Given the description of an element on the screen output the (x, y) to click on. 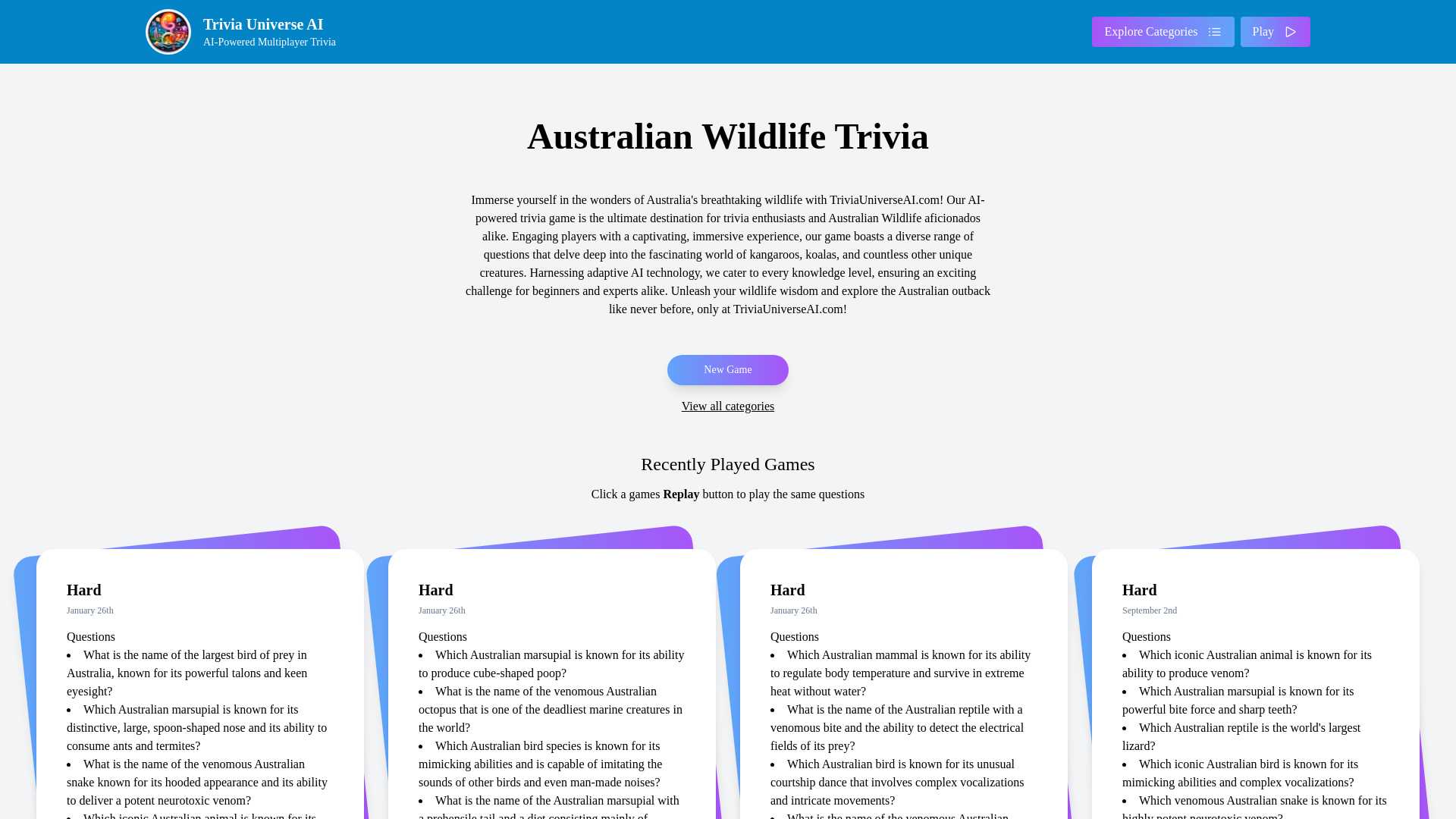
View all categories (246, 31)
New Game (727, 406)
Explore Categories (726, 369)
Play (1162, 31)
